Given the description of an element on the screen output the (x, y) to click on. 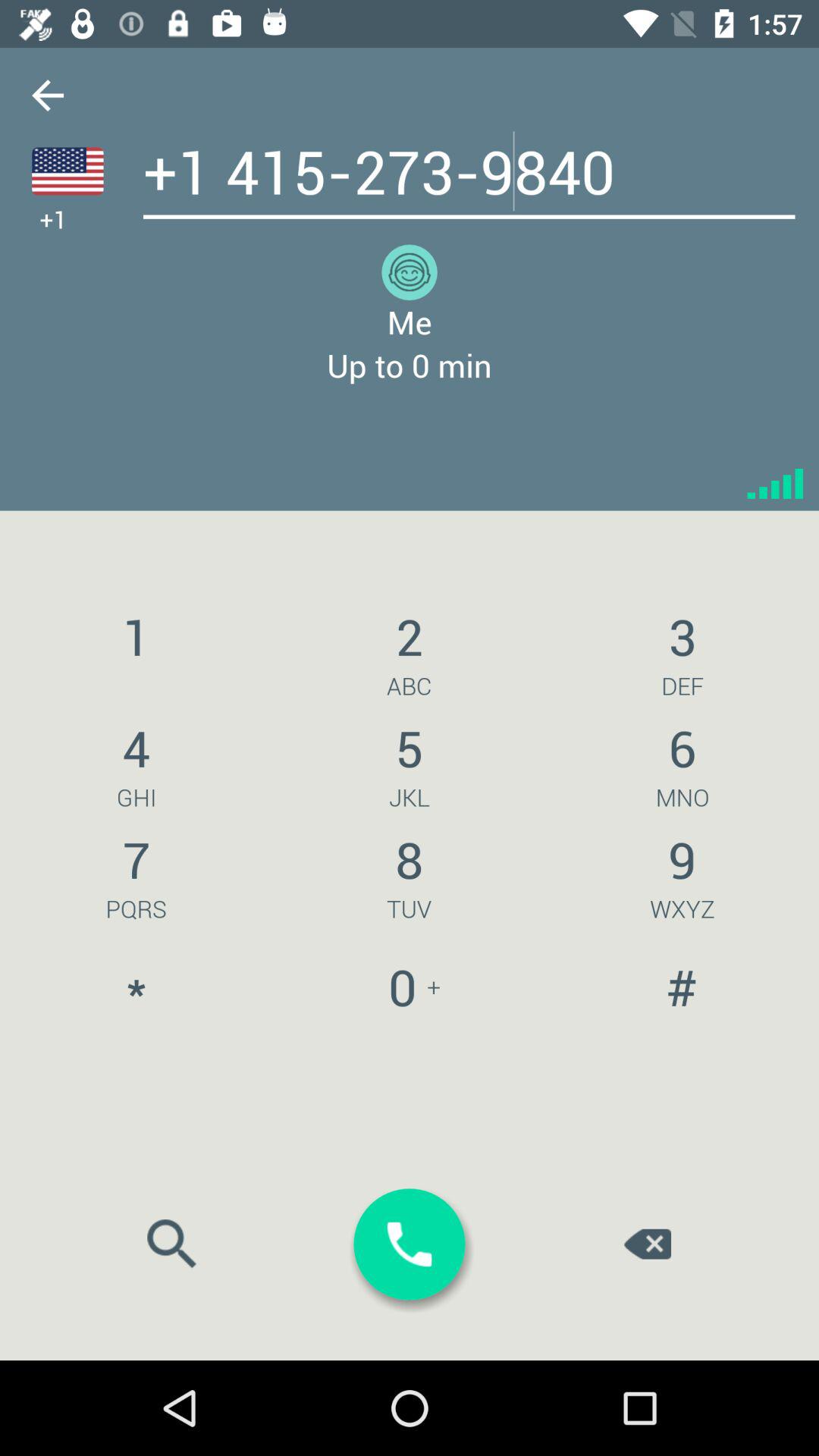
back arrow button (47, 95)
